Given the description of an element on the screen output the (x, y) to click on. 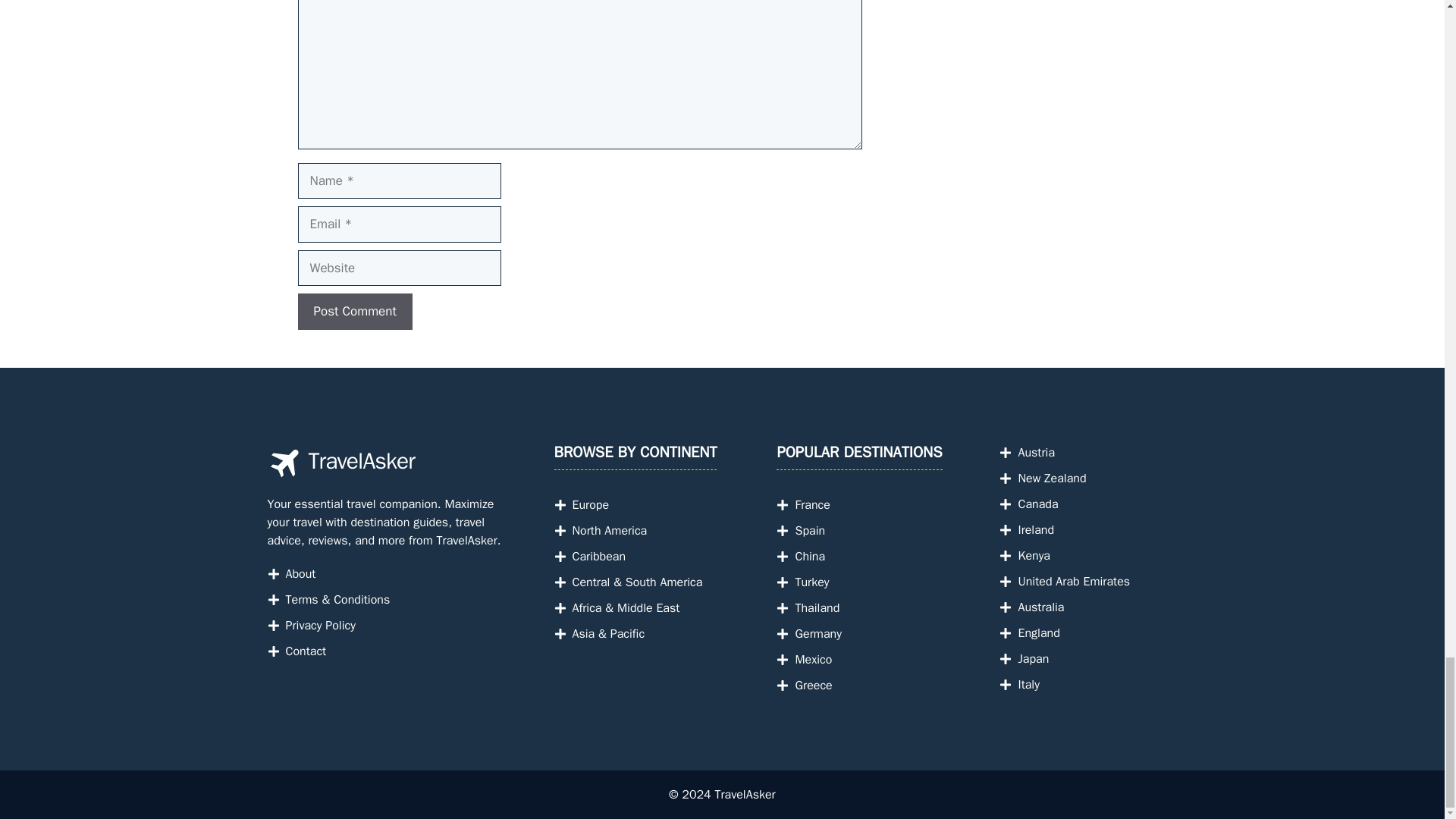
Post Comment (354, 311)
